Given the description of an element on the screen output the (x, y) to click on. 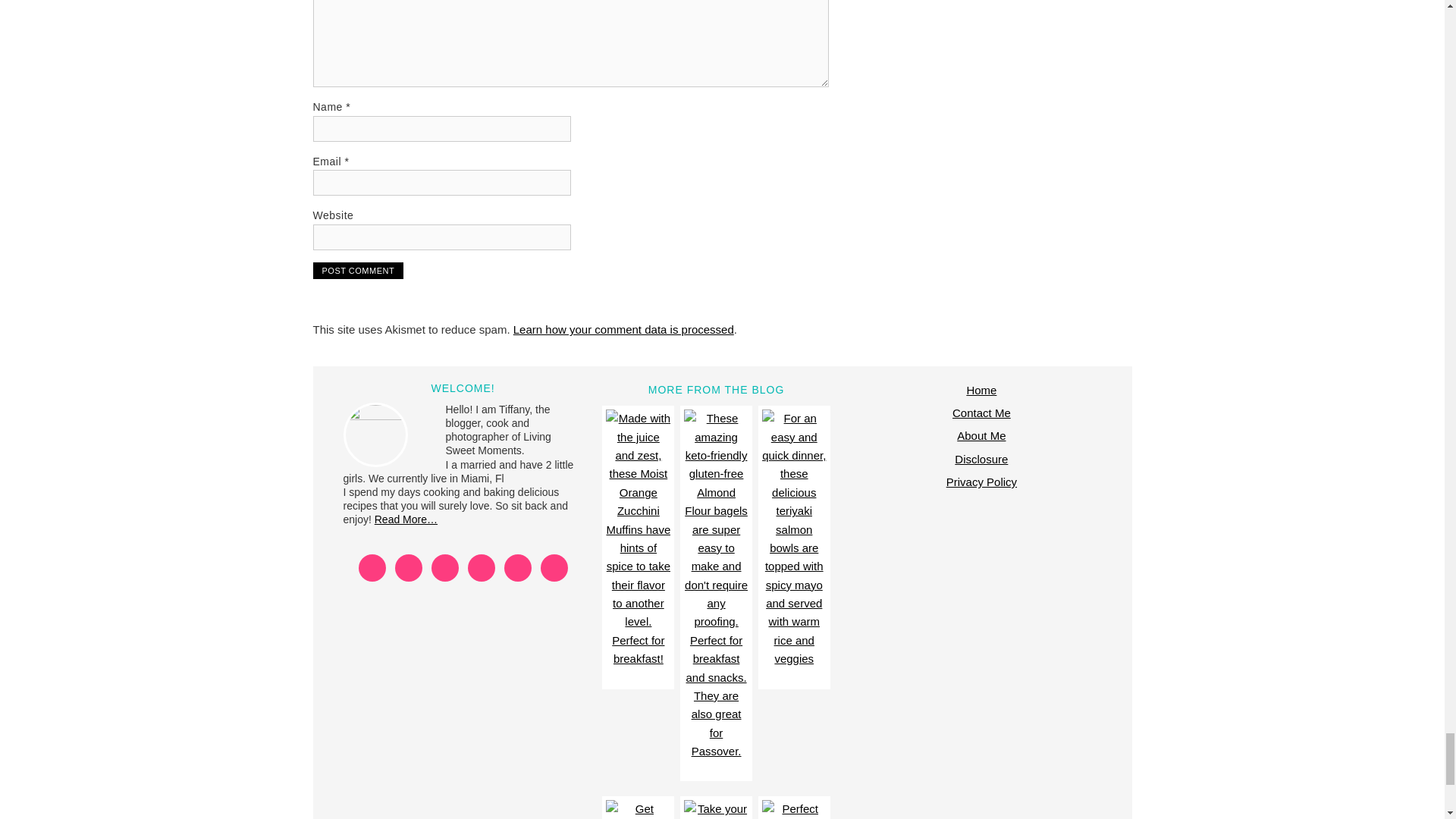
Post Comment (358, 270)
Delicate Vanilla Tea Muffins (794, 809)
Garlic Butter Skillet Chicken (637, 809)
